Given the description of an element on the screen output the (x, y) to click on. 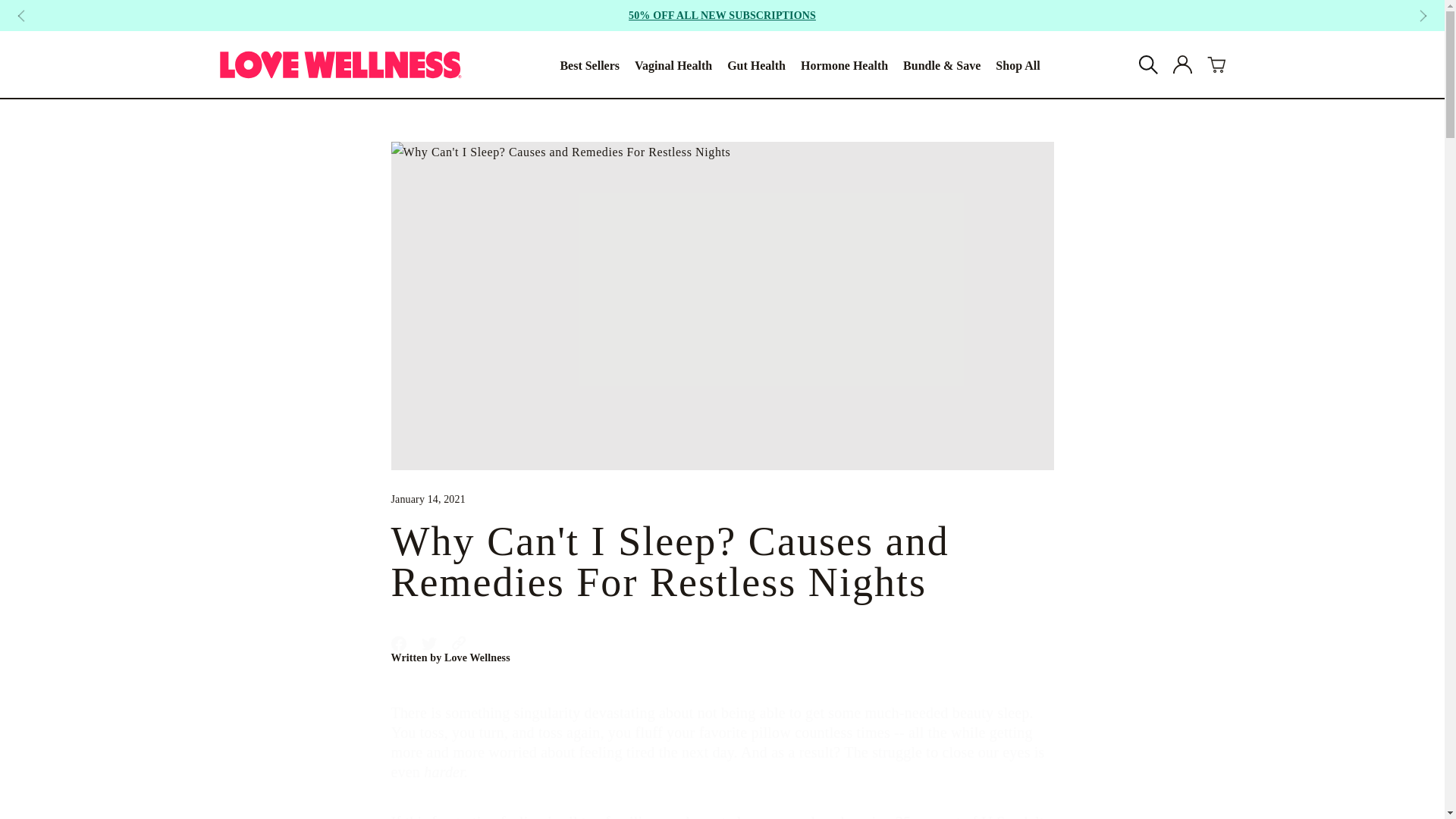
Vaginal Health (722, 643)
Previous announcement (672, 64)
Gut Health (20, 15)
Written by Love Wellness (756, 64)
Hormone Health (722, 658)
Account (844, 64)
Best Sellers (1181, 64)
Next announcement (589, 64)
